Given the description of an element on the screen output the (x, y) to click on. 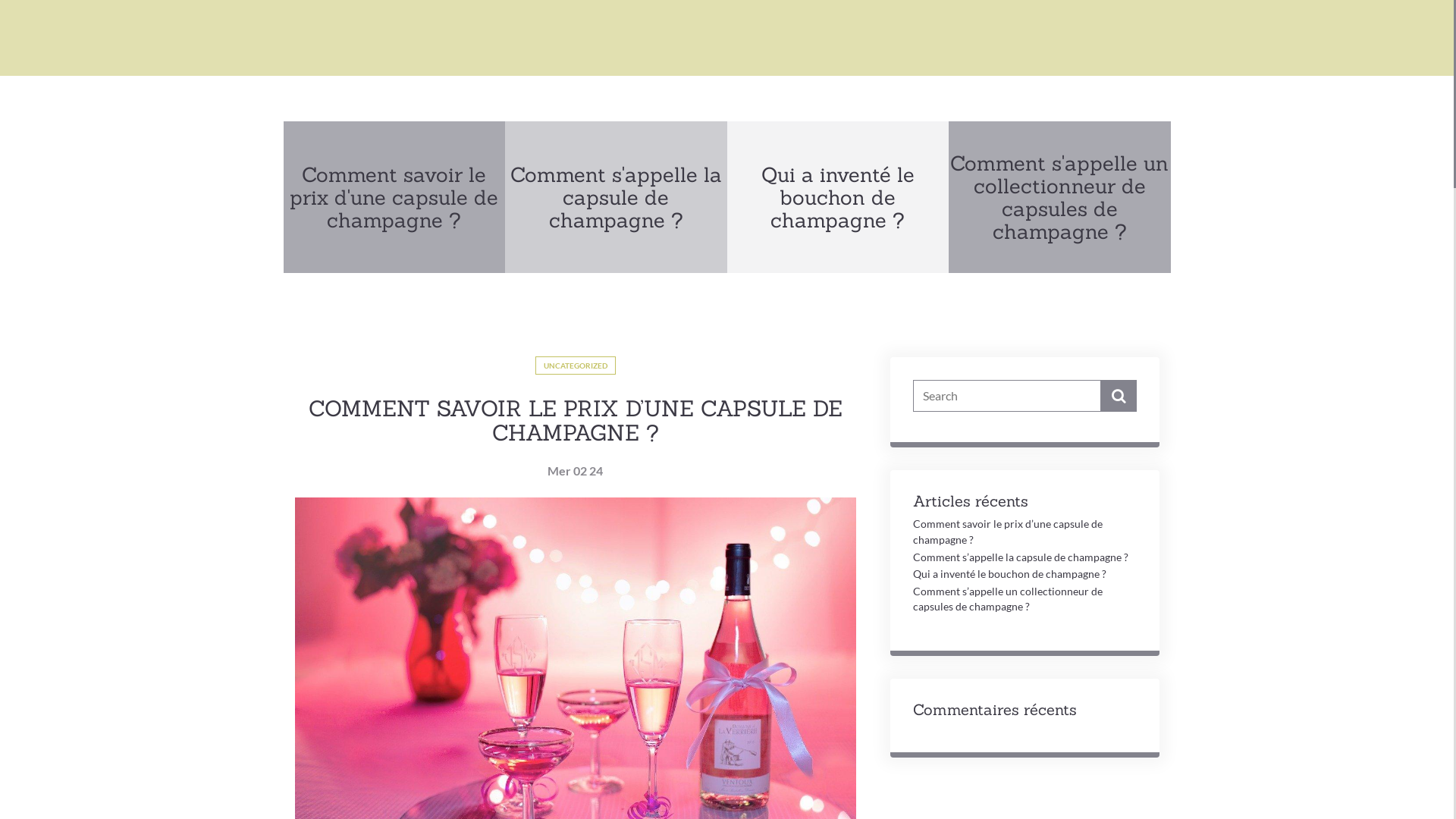
UNCATEGORIZED Element type: text (575, 365)
Comment savoir le prix d'une capsule de champagne ? Element type: text (394, 196)
Comment s'appelle la capsule de champagne ? Element type: text (616, 196)
